Given the description of an element on the screen output the (x, y) to click on. 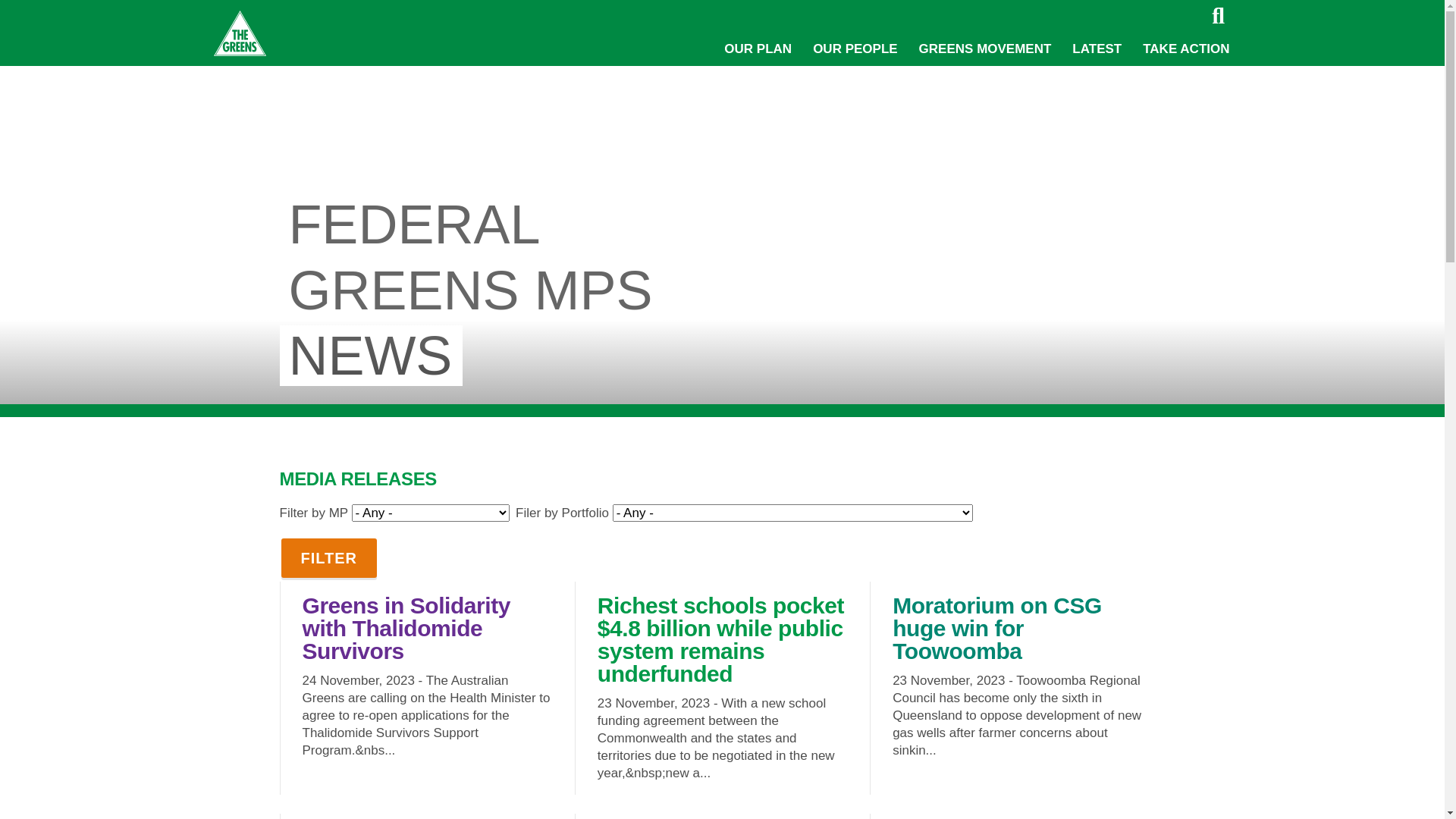
OUR PLAN Element type: text (757, 48)
Moratorium on CSG huge win for Toowoomba Element type: text (996, 628)
TAKE ACTION Element type: text (1185, 48)
OUR PEOPLE Element type: text (854, 48)
Filter Element type: text (328, 557)
Search Element type: text (1217, 15)
LATEST Element type: text (1096, 48)
Skip to main content Element type: text (0, 0)
Greens in Solidarity with Thalidomide Survivors Element type: text (405, 628)
GREENS MOVEMENT Element type: text (985, 48)
